Given the description of an element on the screen output the (x, y) to click on. 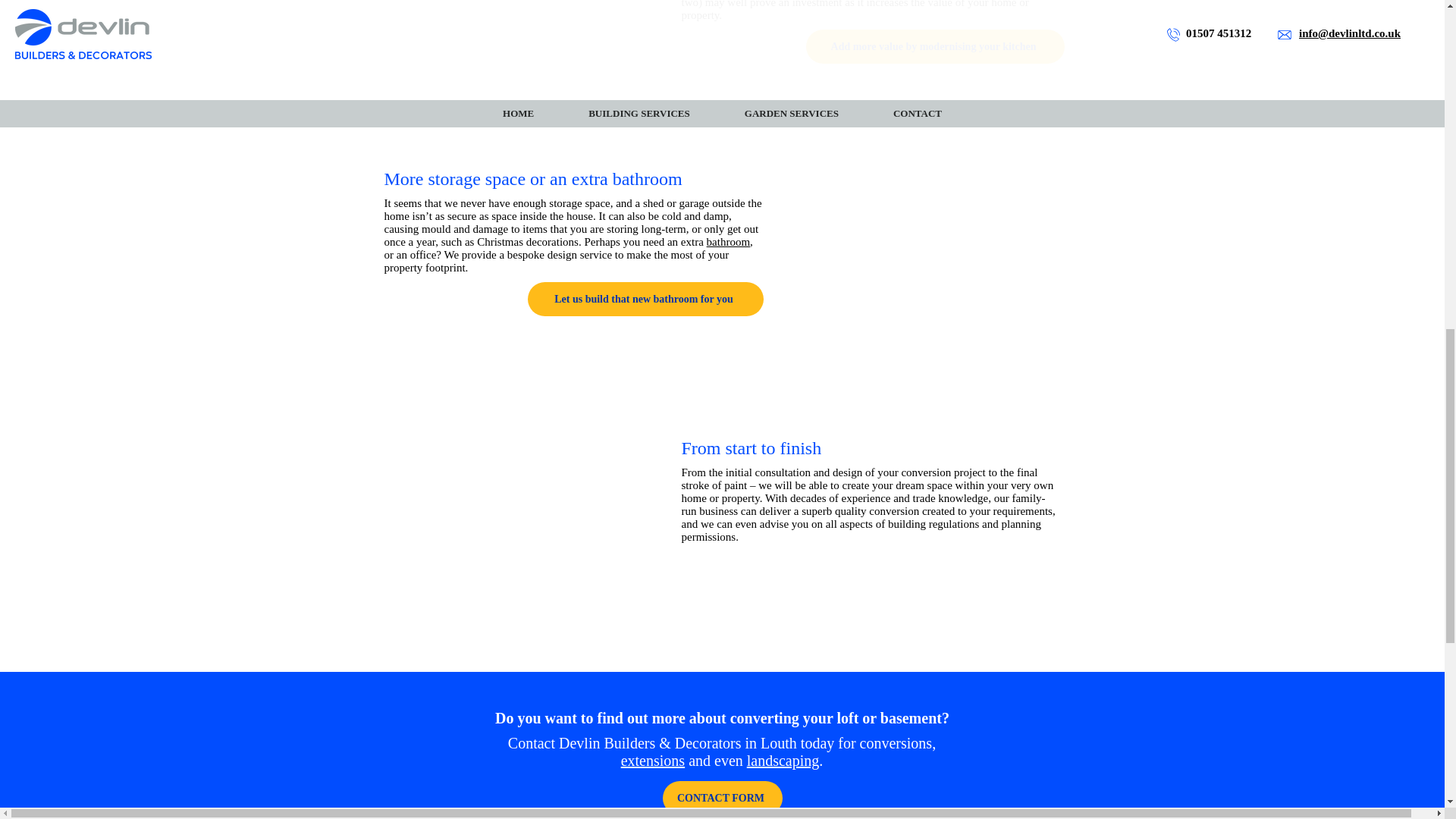
Let us build that new bathroom for you (644, 298)
landscaping (782, 760)
CONTACT FORM (722, 797)
bathroom (728, 241)
extensions (652, 760)
Add more value by modernising your kitchen (934, 46)
